Given the description of an element on the screen output the (x, y) to click on. 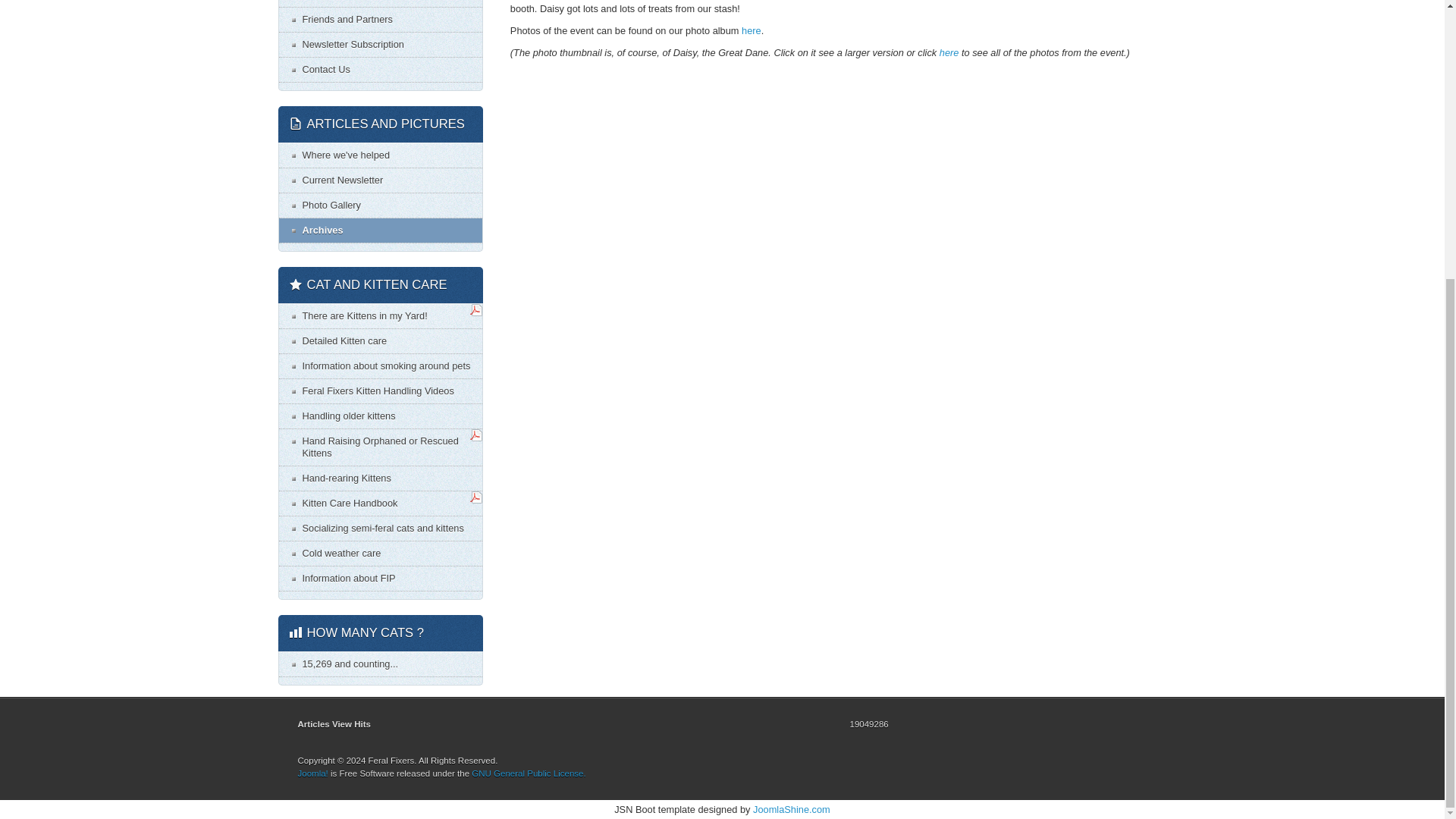
Friends and Partners (380, 19)
Contact Us (380, 69)
here (751, 30)
Where we've helped (380, 155)
Resources (380, 3)
here (949, 52)
Free Hi-Quality Joomla Templates on JoomlaShine (790, 808)
Newsletter Subscription (380, 44)
